Given the description of an element on the screen output the (x, y) to click on. 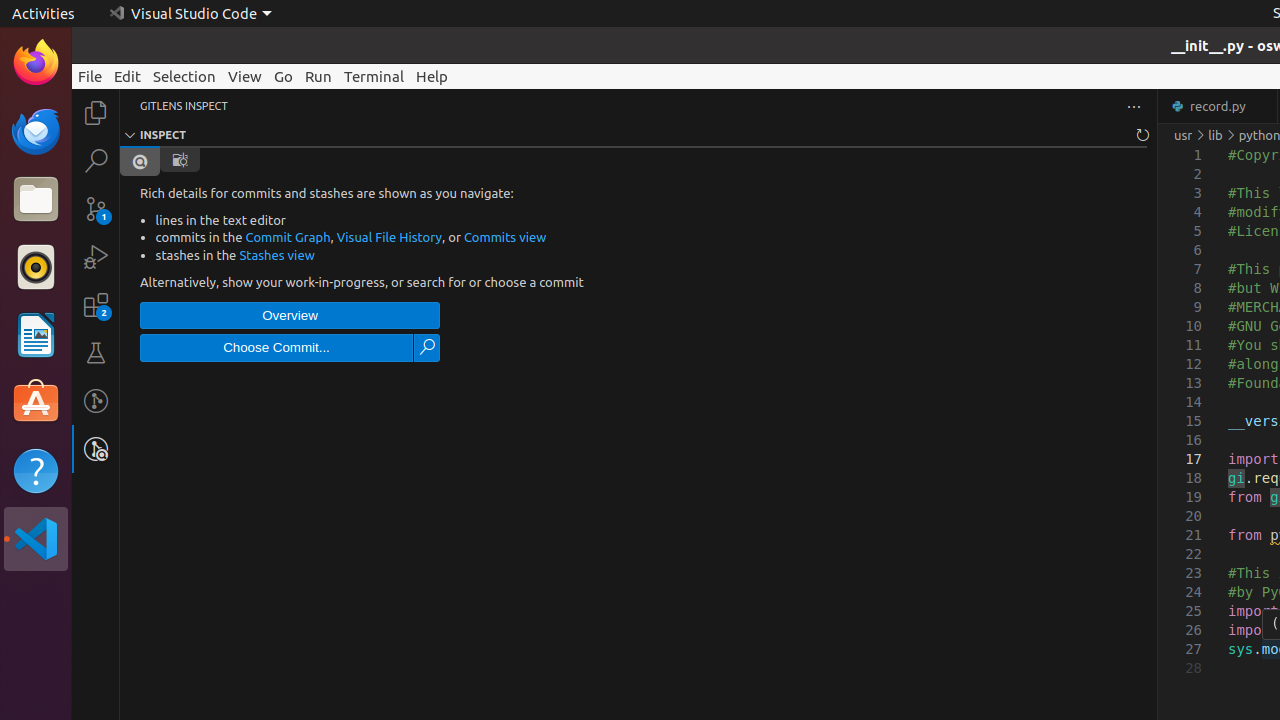
Extensions (Ctrl+Shift+X) - 2 require restart Extensions (Ctrl+Shift+X) - 2 require restart Element type: page-tab (96, 305)
Commits view Element type: link (505, 237)
Firefox Web Browser Element type: push-button (36, 63)
Stashes view Element type: link (277, 254)
